Given the description of an element on the screen output the (x, y) to click on. 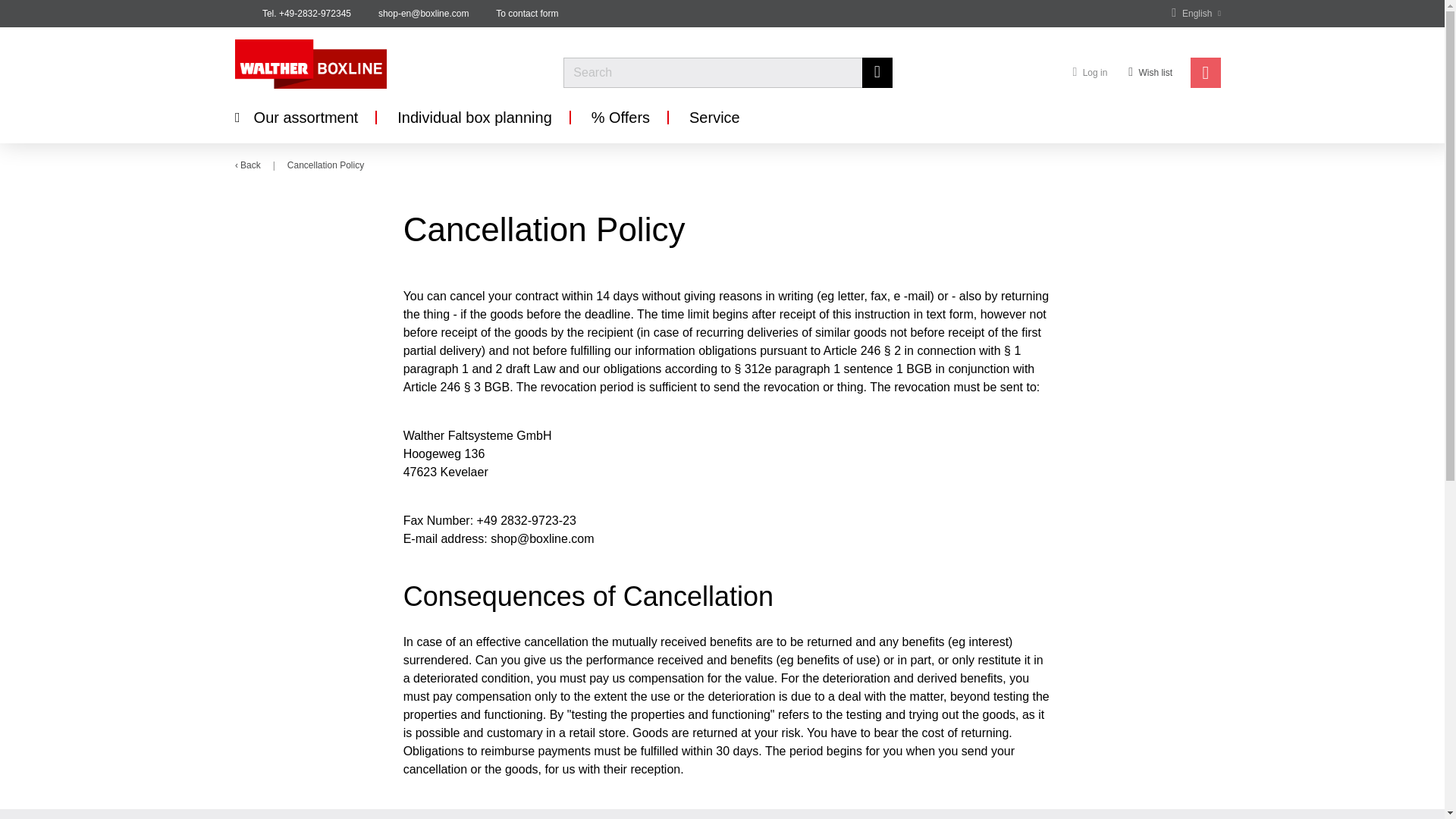
Search (876, 72)
Wish list (1149, 72)
Service (713, 117)
To contact form (526, 13)
Log in (1089, 72)
Cancellation Policy (325, 164)
Our assortment (296, 117)
Wish list (1149, 72)
boxline (357, 63)
English (1196, 13)
